Given the description of an element on the screen output the (x, y) to click on. 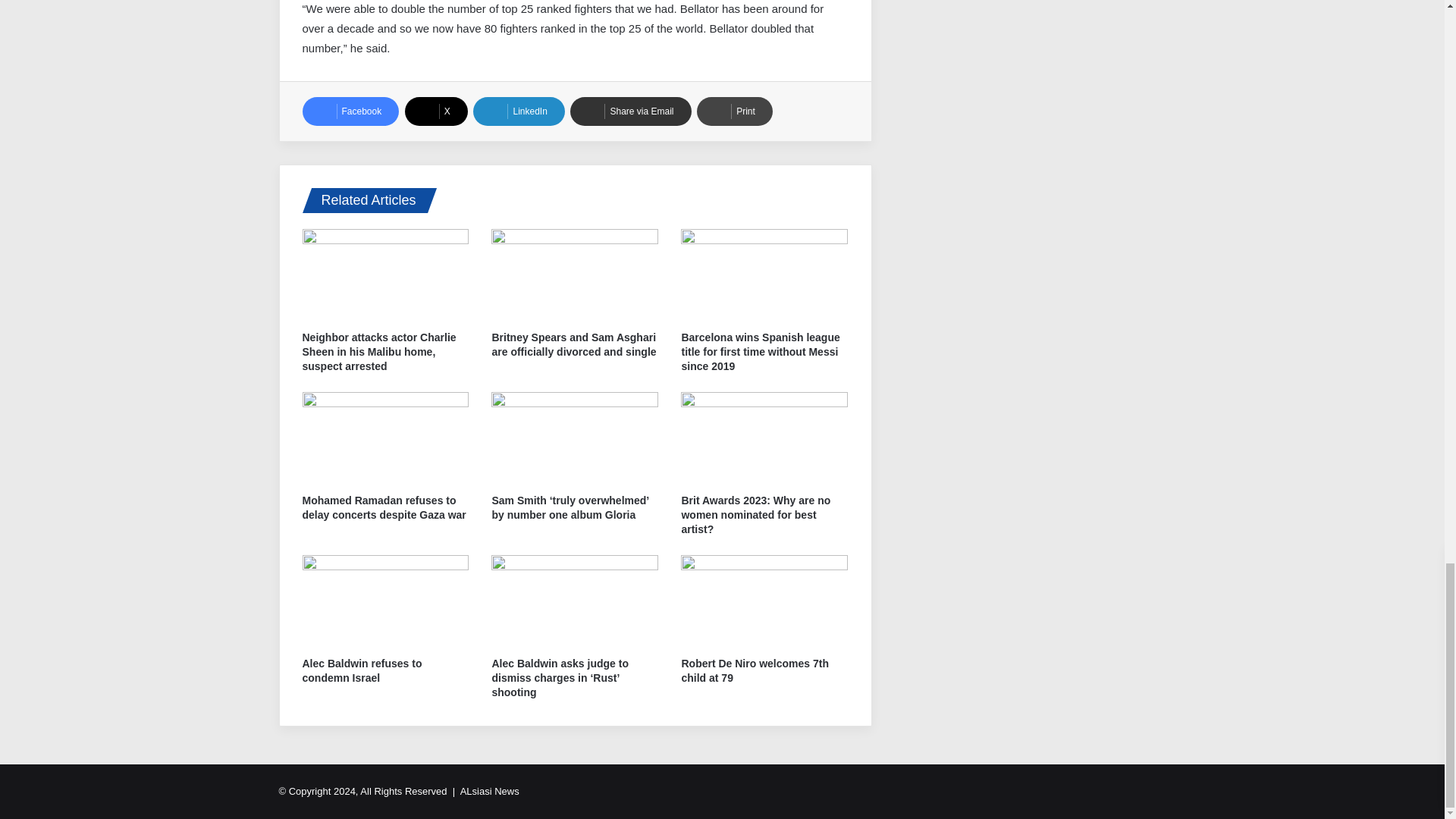
Facebook (349, 111)
Robert De Niro welcomes 7th child at 79 (754, 670)
Print (735, 111)
Print (735, 111)
Share via Email (630, 111)
Share via Email (630, 111)
Alec Baldwin refuses to condemn Israel (361, 670)
LinkedIn (518, 111)
X (435, 111)
X (435, 111)
Mohamed Ramadan refuses to delay concerts despite Gaza war (383, 507)
Facebook (349, 111)
